Given the description of an element on the screen output the (x, y) to click on. 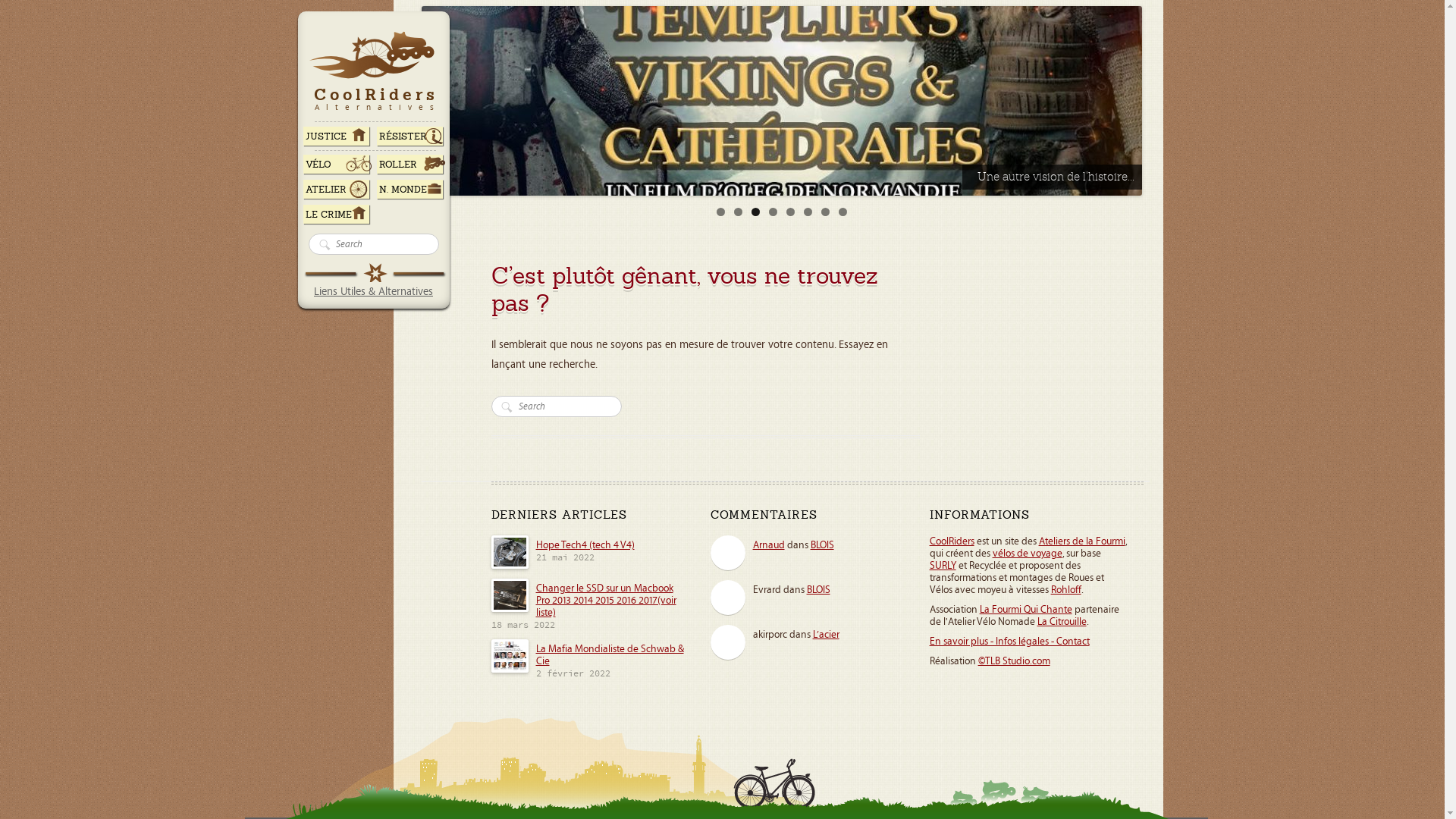
7 Element type: text (824, 211)
ROLLER Element type: text (407, 163)
Coolriders :: Element type: text (471, 42)
4 Element type: text (772, 211)
Aller au contenu Element type: text (373, 26)
templiers-vikings-cathedrales Element type: hover (781, 100)
N. MONDE Element type: text (407, 188)
5 Element type: text (789, 211)
Search Element type: text (506, 410)
La Mafia Mondialiste de Schwab & Cie Element type: hover (509, 669)
CoolRiders
Alternatives Element type: text (375, 76)
6 Element type: text (807, 211)
Liens Utiles & Alternatives Element type: text (373, 291)
2 Element type: text (738, 211)
La Citrouille Element type: text (1061, 621)
SURLY Element type: text (942, 565)
Arnaud Element type: text (768, 544)
BLOIS Element type: text (818, 589)
LE CRIME Element type: text (334, 213)
ATELIER Element type: text (334, 188)
La Fourmi Qui Chante Element type: text (1025, 609)
Search Element type: text (324, 248)
CoolRiders Element type: text (951, 541)
Hope Tech4 (tech 4 V4) Element type: hover (509, 566)
Ateliers de la Fourmi Element type: text (1081, 541)
Hope Tech4 (tech 4 V4) Element type: text (584, 544)
La Mafia Mondialiste de Schwab & Cie Element type: text (609, 654)
1 Element type: text (719, 211)
JUSTICE Element type: text (334, 135)
Search Element type: hover (324, 248)
8 Element type: text (842, 211)
Search Element type: hover (506, 410)
Rohloff Element type: text (1066, 589)
3 Element type: text (754, 211)
BLOIS Element type: text (822, 544)
